Given the description of an element on the screen output the (x, y) to click on. 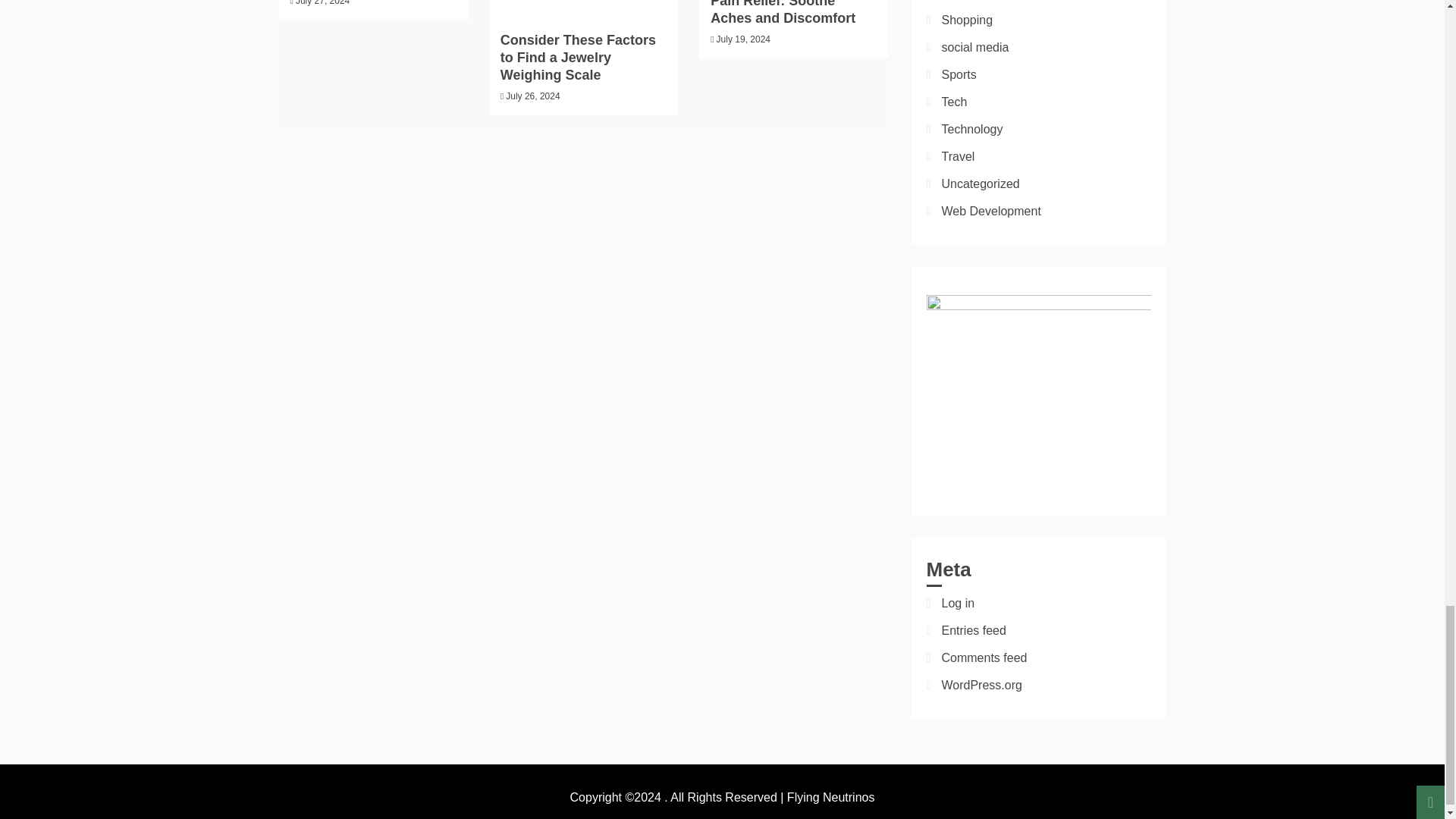
Consider These Factors to Find a Jewelry Weighing Scale (578, 57)
July 27, 2024 (322, 2)
July 19, 2024 (743, 39)
July 26, 2024 (532, 95)
